Given the description of an element on the screen output the (x, y) to click on. 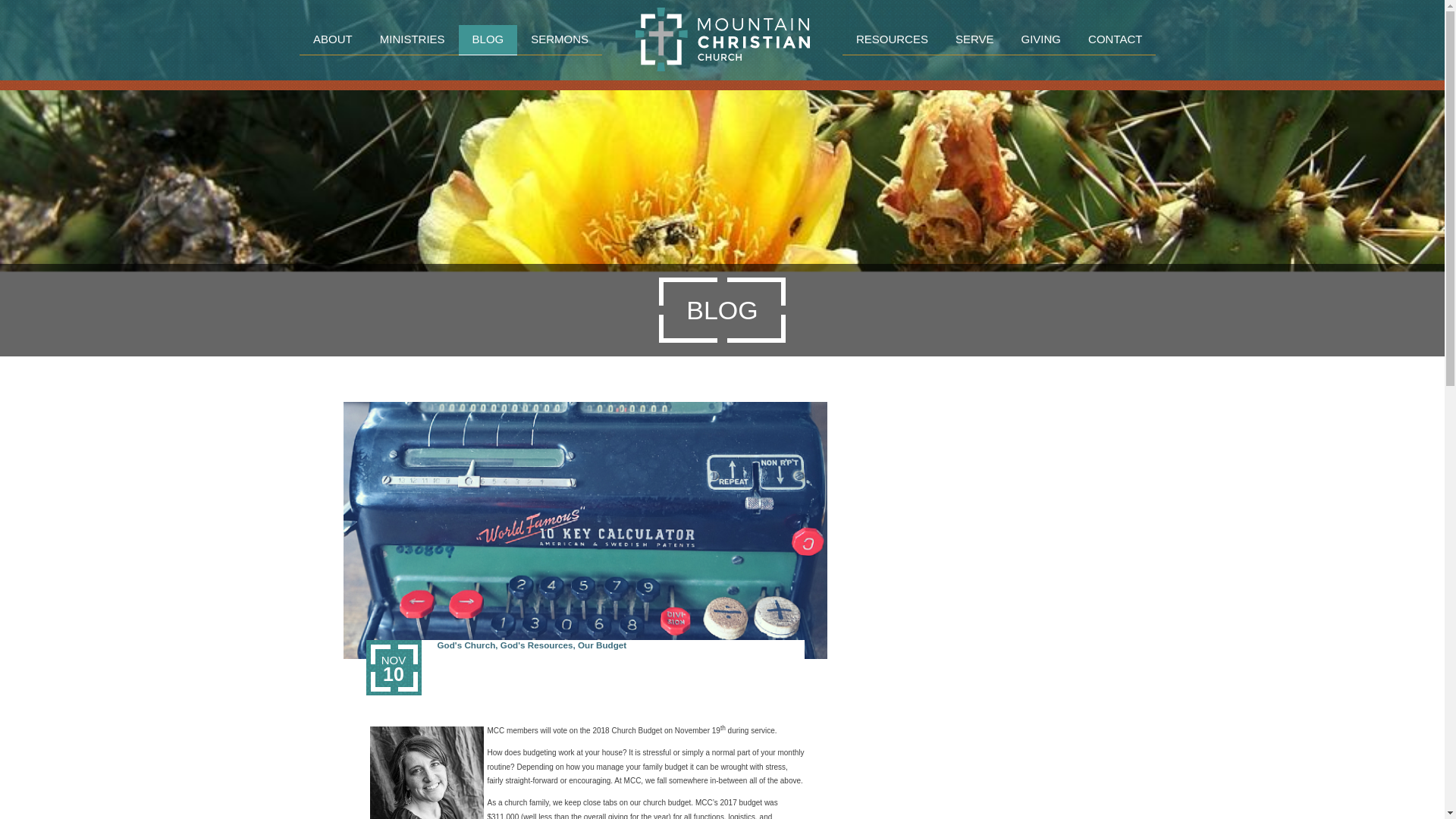
BLOG (488, 40)
ABOUT (332, 40)
CONTACT (1115, 40)
SERVE (974, 40)
RESOURCES (892, 40)
GIVING (1041, 40)
MINISTRIES (412, 40)
SERMONS (559, 40)
God's Church, God's Resources, Our Budget (619, 644)
